Given the description of an element on the screen output the (x, y) to click on. 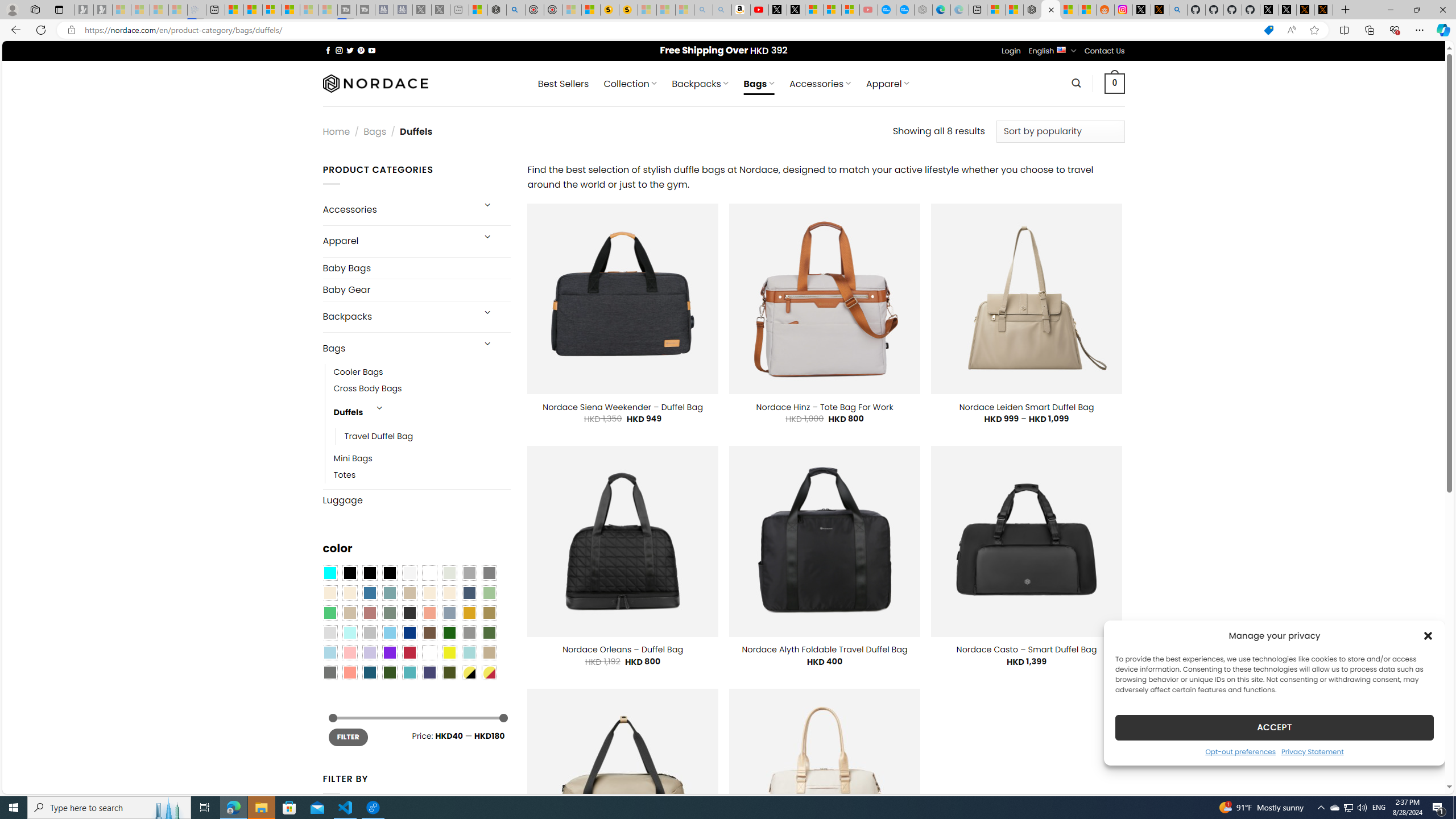
All Gray (488, 572)
Black (369, 572)
Dark Gray (468, 572)
All Black (349, 572)
Travel Duffel Bag (378, 436)
Cross Body Bags (422, 388)
The most popular Google 'how to' searches (904, 9)
